Given the description of an element on the screen output the (x, y) to click on. 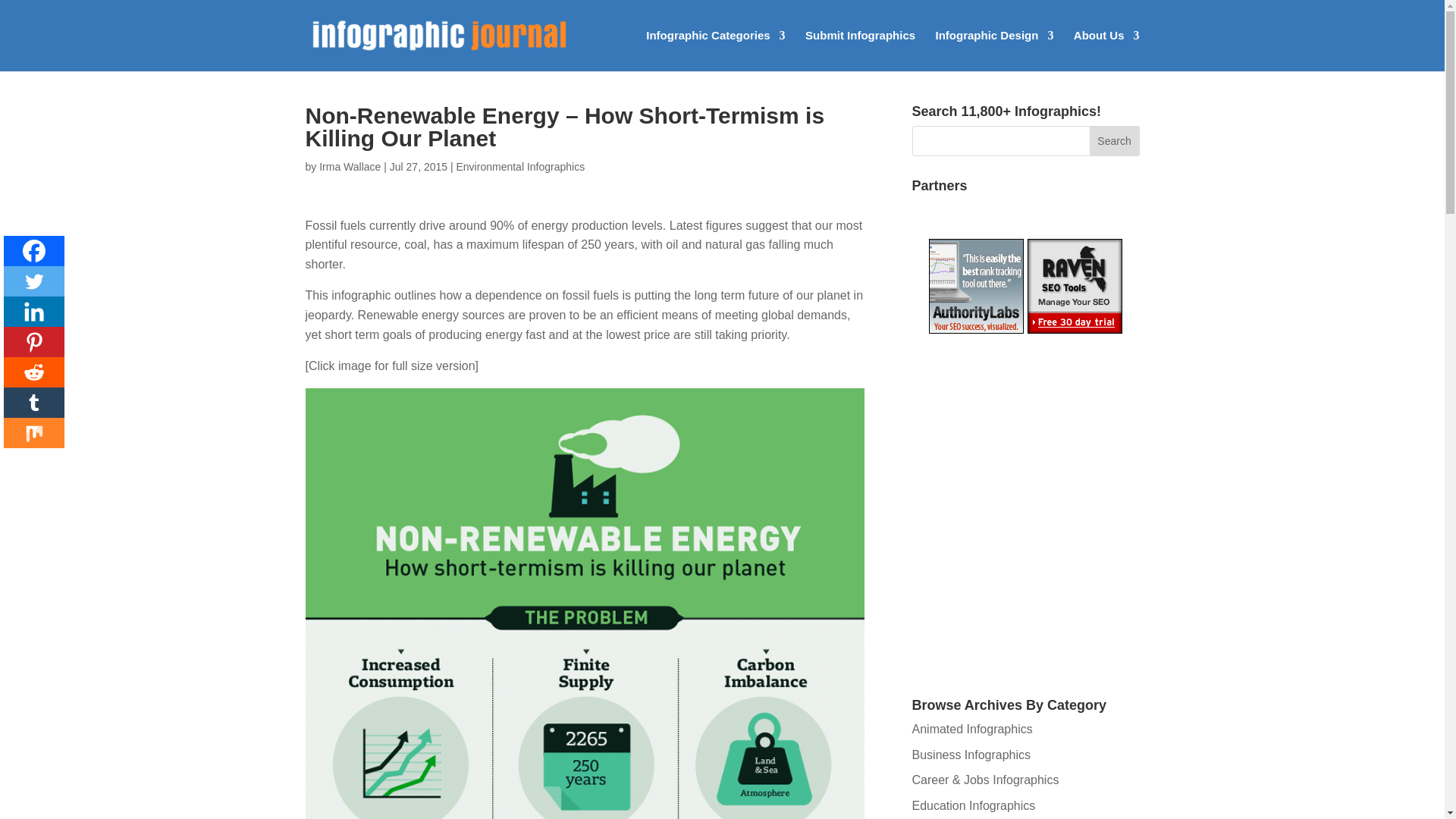
Submit Infographics (860, 50)
Search (1114, 141)
About Us (1107, 50)
Infographic Categories (715, 50)
Irma Wallace (349, 166)
Infographic Categories (715, 50)
Environmental Infographics (521, 166)
Infographic Design (995, 50)
